Given the description of an element on the screen output the (x, y) to click on. 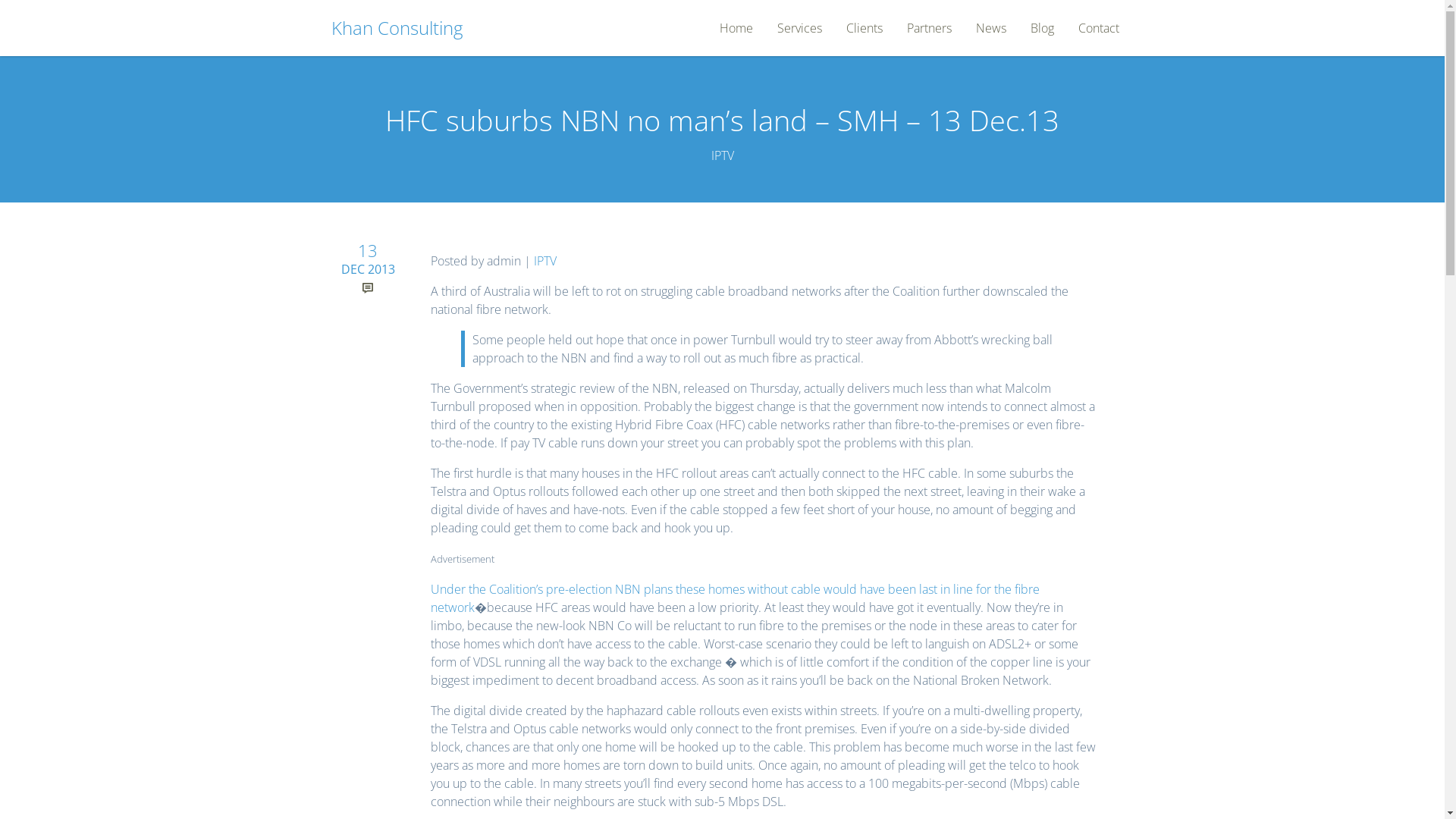
Blog Element type: text (1042, 28)
Services Element type: text (799, 28)
Home Element type: text (736, 28)
Partners Element type: text (928, 28)
Clients Element type: text (864, 28)
Contact Element type: text (1098, 28)
Khan Consulting Element type: text (395, 27)
News Element type: text (990, 28)
IPTV Element type: text (544, 260)
